Given the description of an element on the screen output the (x, y) to click on. 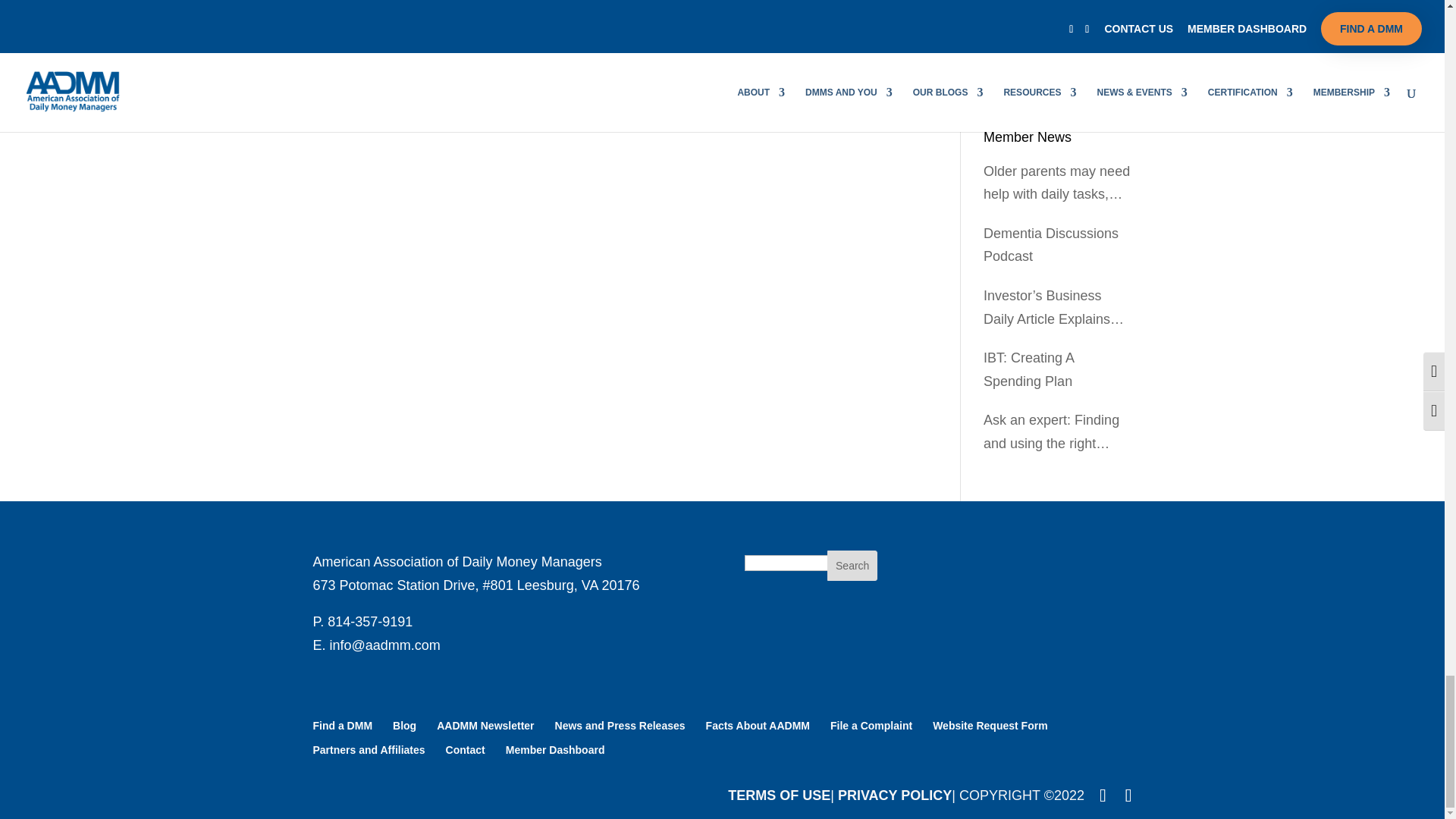
Search (852, 565)
